Given the description of an element on the screen output the (x, y) to click on. 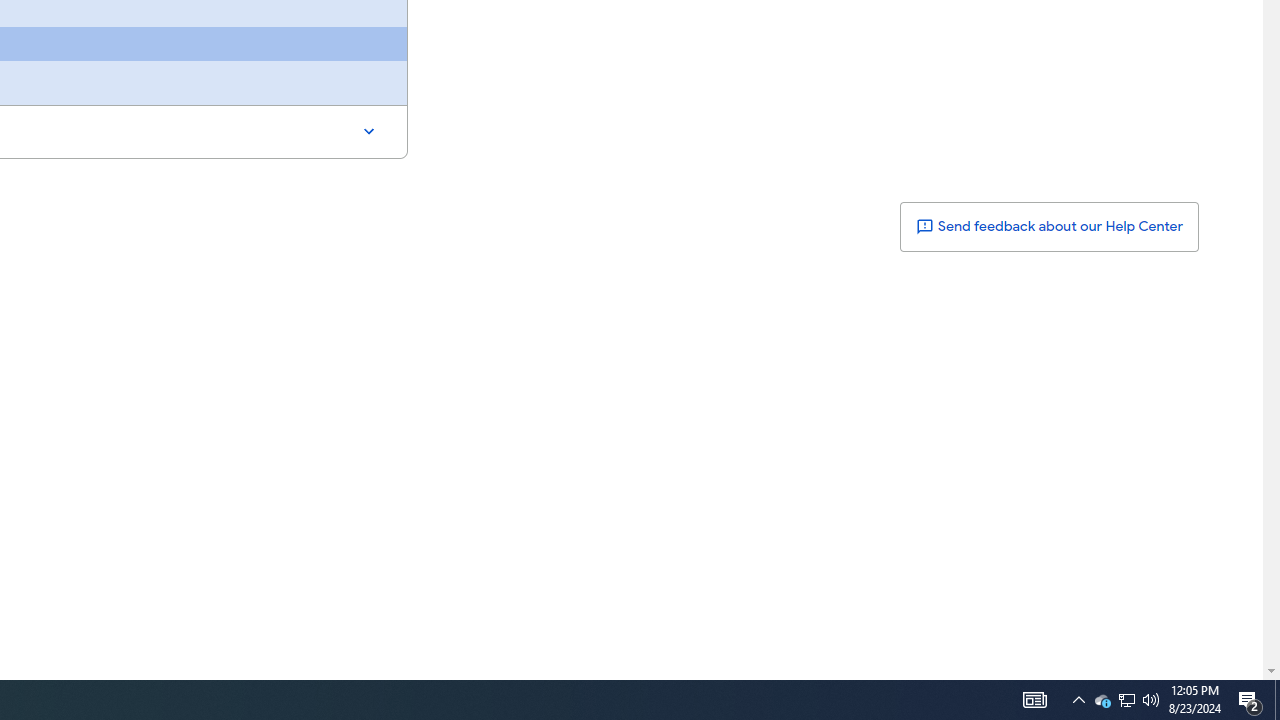
Send feedback about our Help Center (1048, 226)
